Given the description of an element on the screen output the (x, y) to click on. 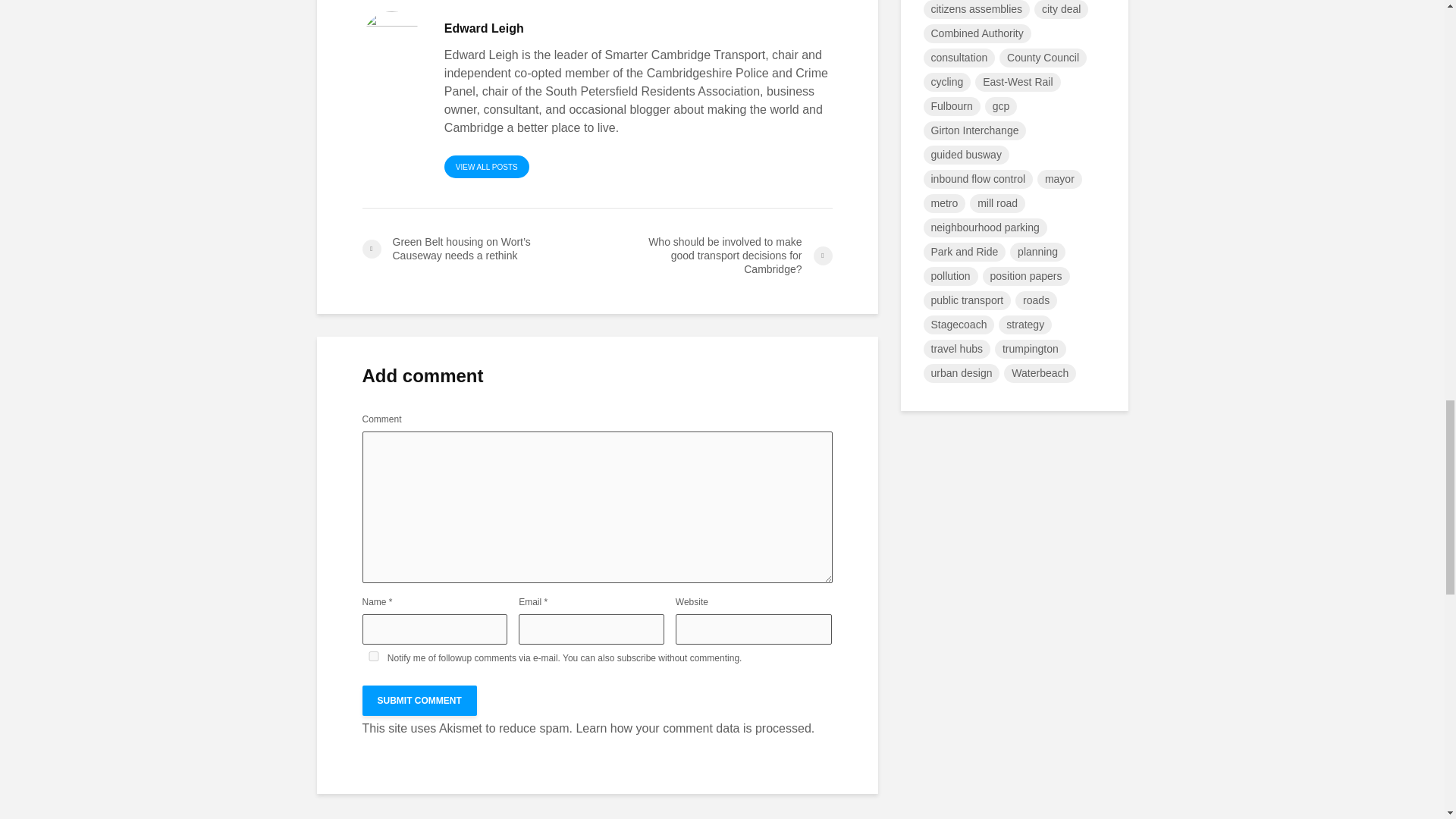
Learn how your comment data is processed (692, 727)
subscribe (636, 657)
Submit Comment (419, 700)
yes (373, 655)
VIEW ALL POSTS (486, 166)
Submit Comment (419, 700)
